Given the description of an element on the screen output the (x, y) to click on. 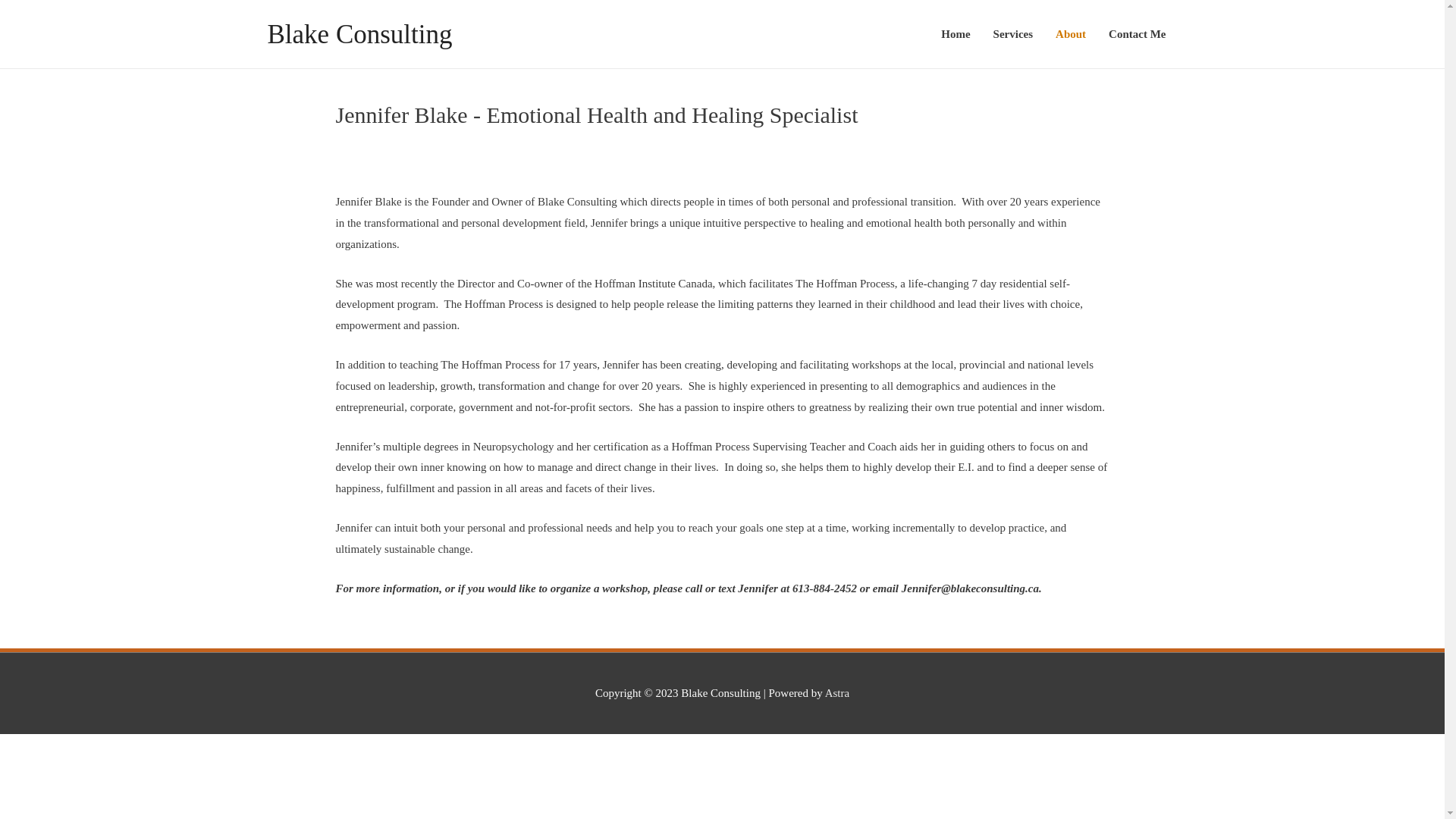
Contact Me Element type: text (1136, 33)
About Element type: text (1070, 33)
Home Element type: text (955, 33)
Blake Consulting Element type: text (358, 34)
Astra Element type: text (837, 693)
Services Element type: text (1013, 33)
